Given the description of an element on the screen output the (x, y) to click on. 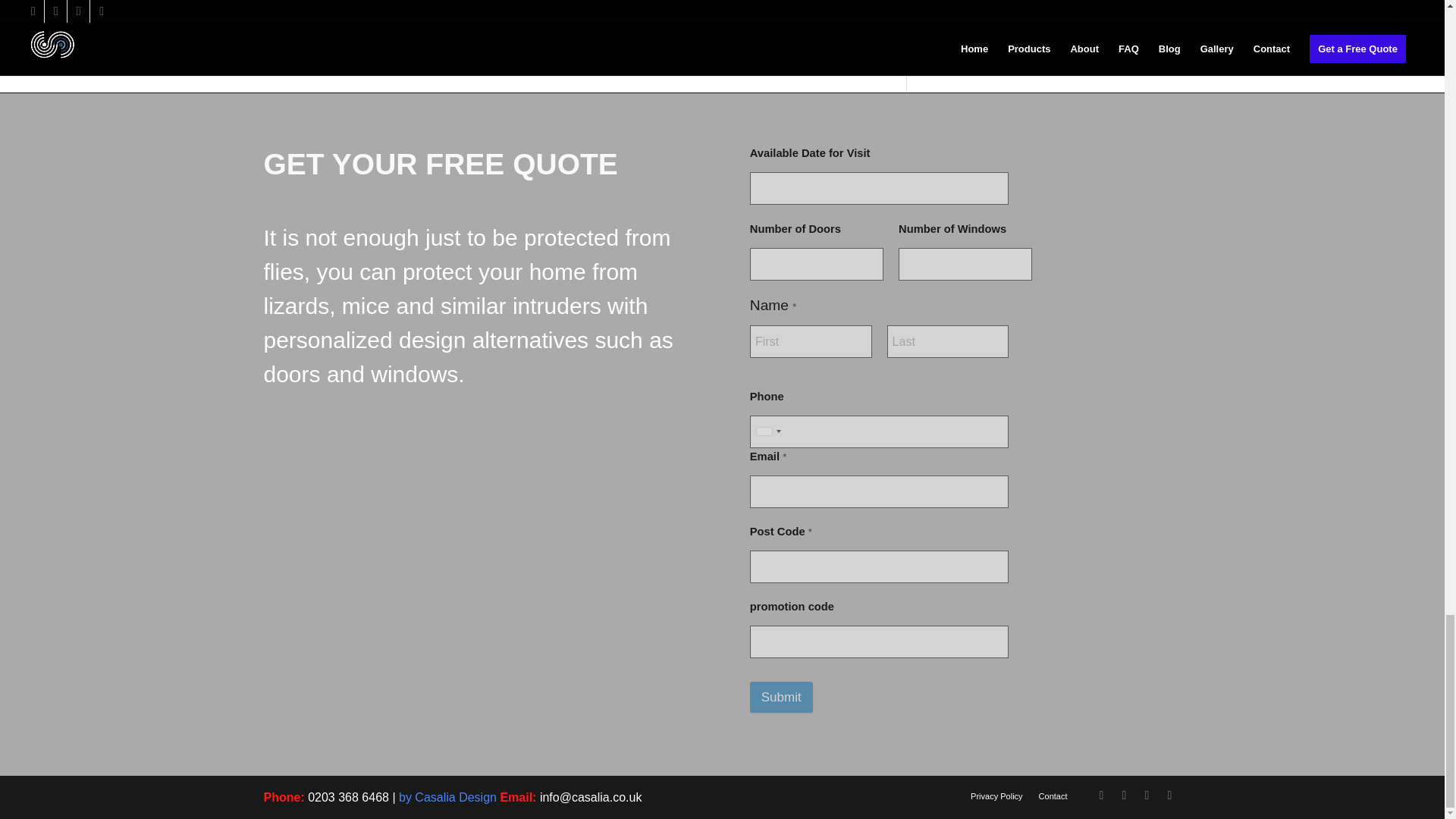
0 COMMENTS (537, 2)
ONLY FLY SCREEN (646, 2)
Instagram (1124, 794)
Posts by Only Fly Screen (646, 2)
Youtube (1101, 794)
